Given the description of an element on the screen output the (x, y) to click on. 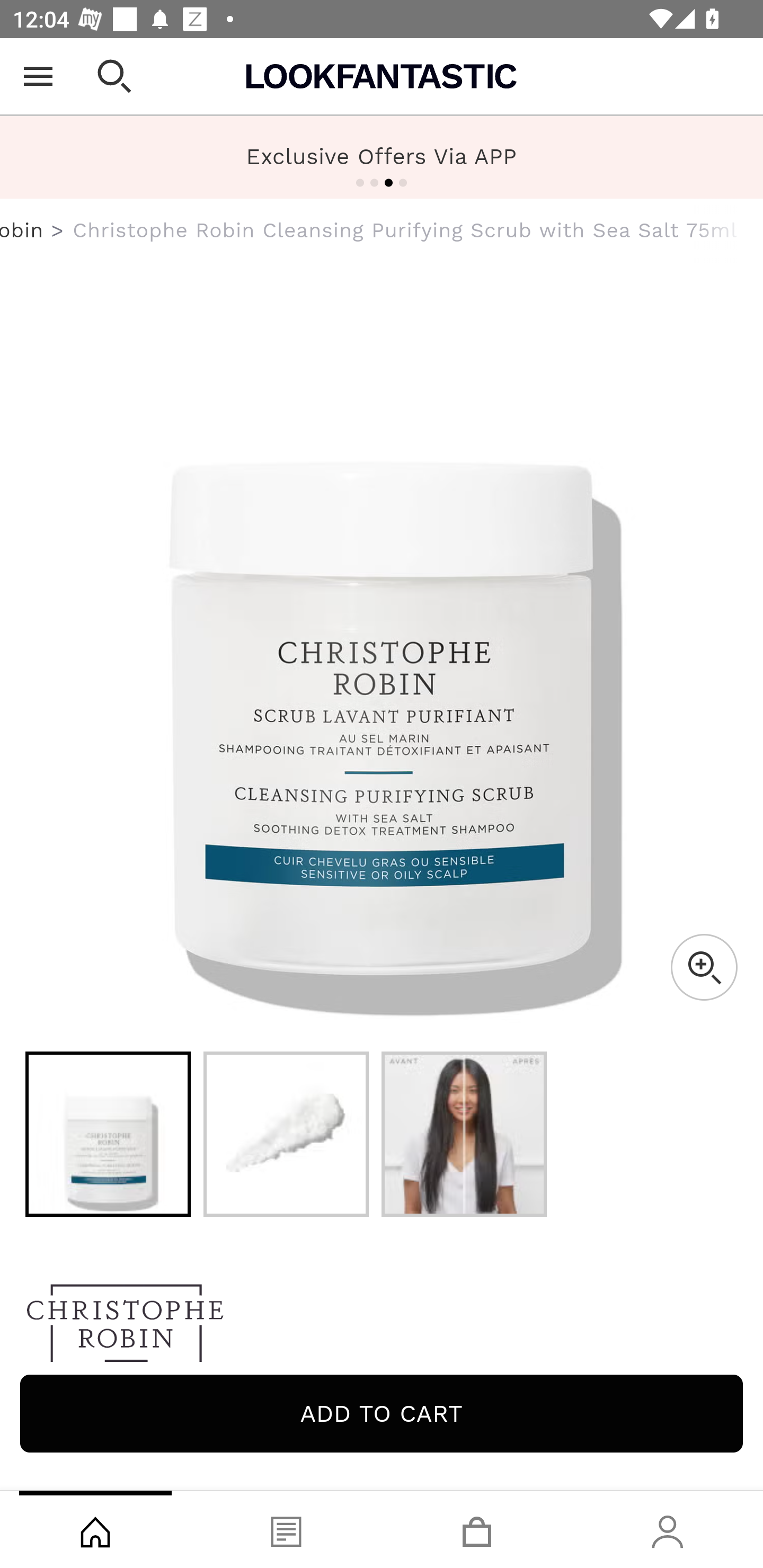
Open Menu (38, 75)
Open search (114, 75)
Lookfantastic USA (381, 75)
Christophe Robin (22, 230)
Zoom (703, 966)
Christophe Robin (381, 1327)
Add to cart (381, 1413)
Shop, tab, 1 of 4 (95, 1529)
Blog, tab, 2 of 4 (285, 1529)
Basket, tab, 3 of 4 (476, 1529)
Account, tab, 4 of 4 (667, 1529)
